Given the description of an element on the screen output the (x, y) to click on. 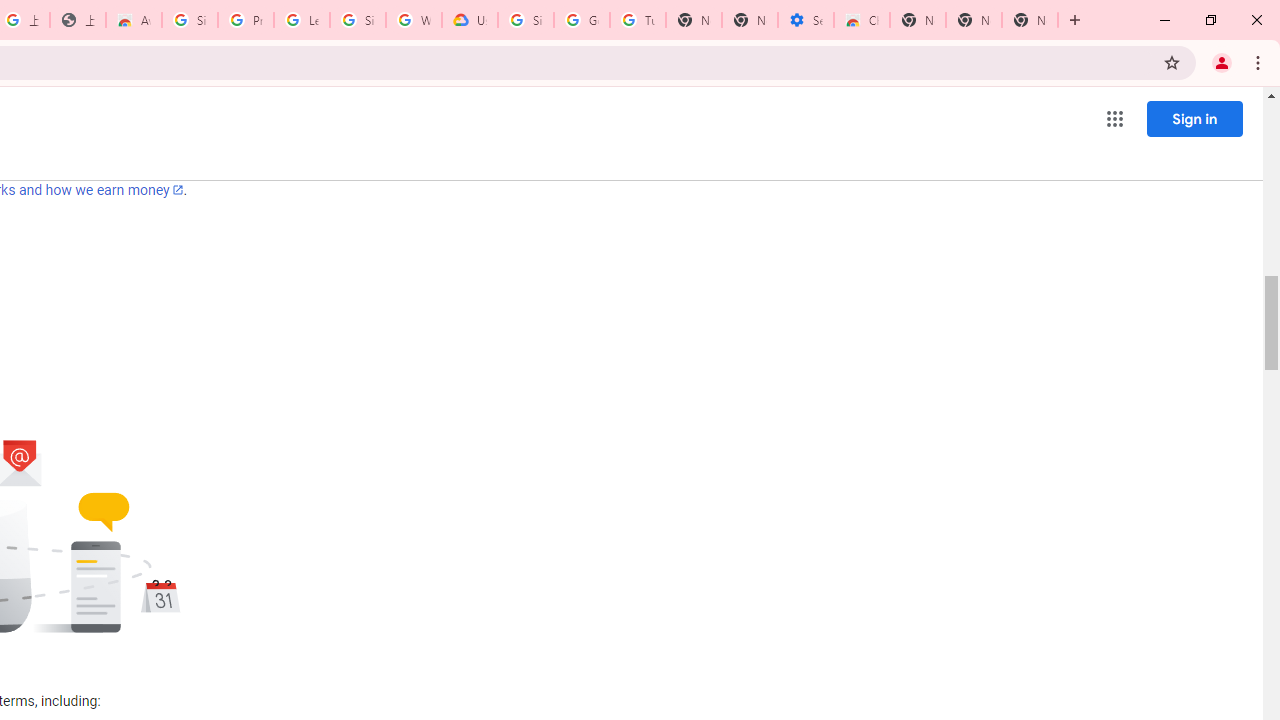
New Tab (917, 20)
services (257, 165)
Google Account Help (582, 20)
Who are Google's partners? - Privacy and conditions - Google (413, 20)
Turn cookies on or off - Computer - Google Account Help (637, 20)
Settings - Accessibility (806, 20)
Chrome Web Store - Accessibility extensions (861, 20)
Sign in - Google Accounts (358, 20)
